Given the description of an element on the screen output the (x, y) to click on. 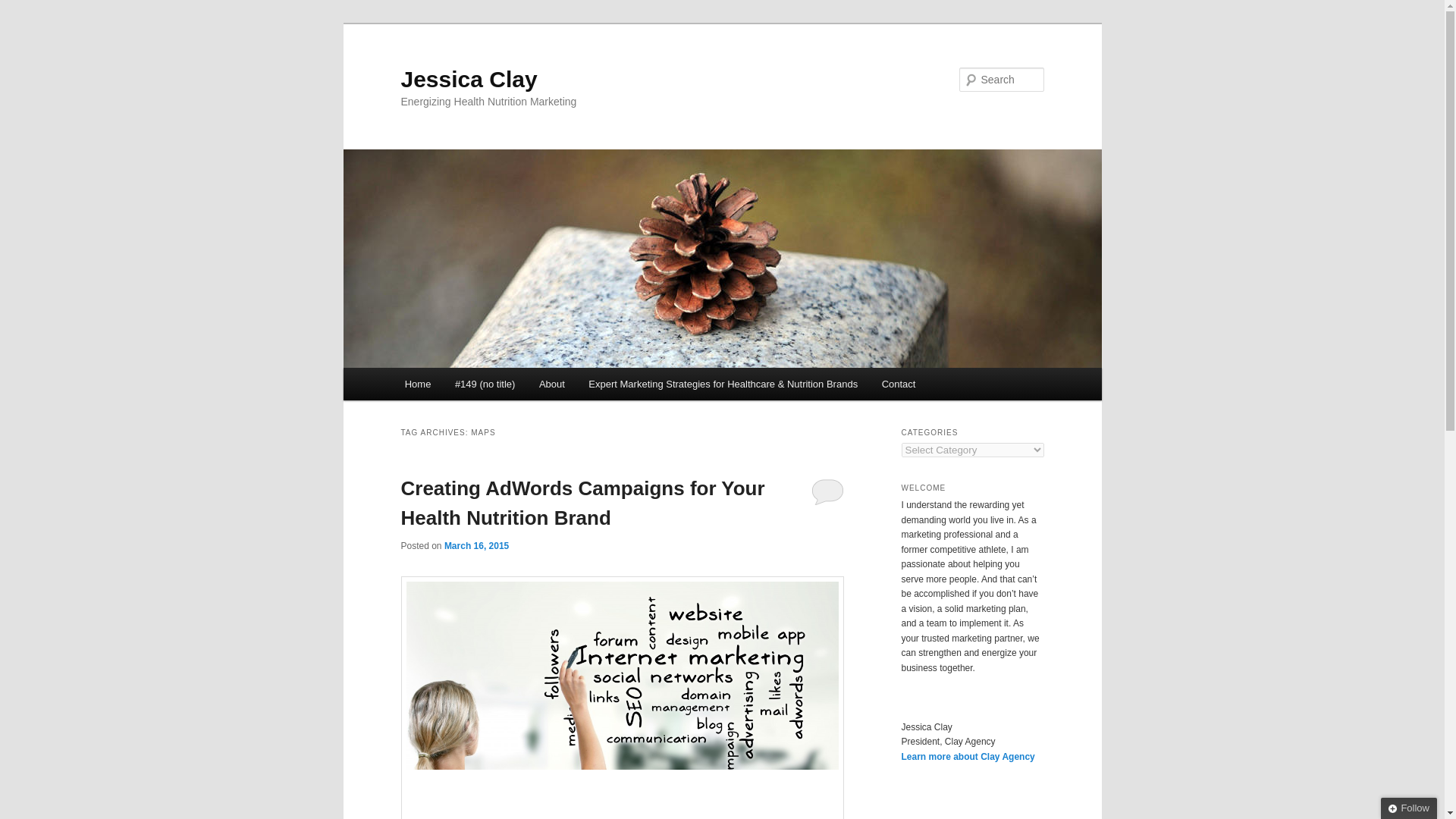
Search (24, 8)
Contact (898, 383)
March 16, 2015 (476, 545)
Creating AdWords Campaigns for Your Health Nutrition Brand (582, 502)
Jessica Clay (468, 78)
About (551, 383)
10:31 am (476, 545)
Home (417, 383)
